Given the description of an element on the screen output the (x, y) to click on. 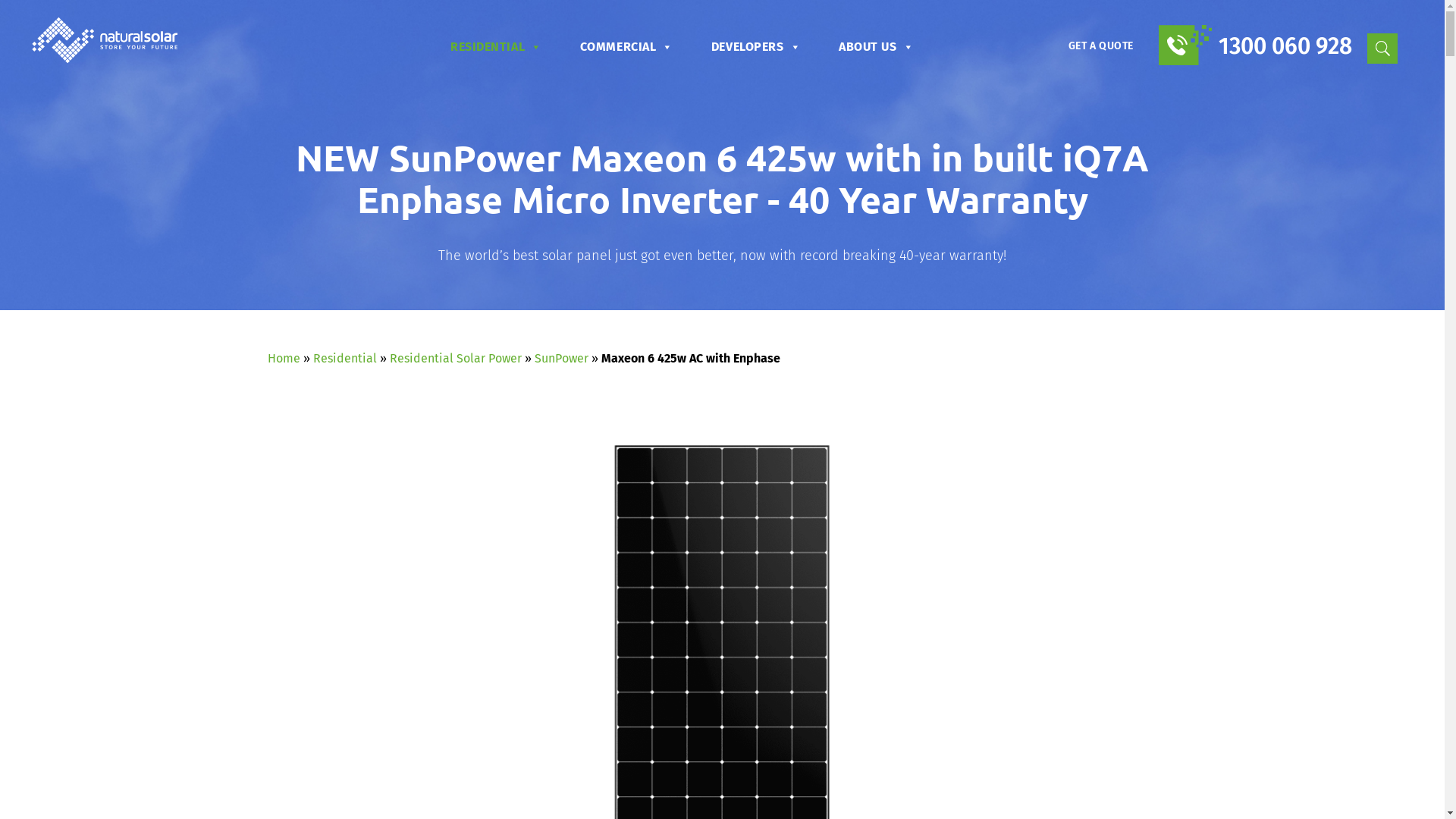
1300 060 928 Element type: text (1255, 42)
SunPower Element type: text (560, 358)
Residential Element type: text (344, 358)
ABOUT US Element type: text (876, 46)
COMMERCIAL Element type: text (626, 46)
Residential Solar Power Element type: text (455, 358)
GET A QUOTE Element type: text (1100, 45)
RESIDENTIAL Element type: text (495, 46)
Home Element type: text (282, 358)
DEVELOPERS Element type: text (755, 46)
